Given the description of an element on the screen output the (x, y) to click on. 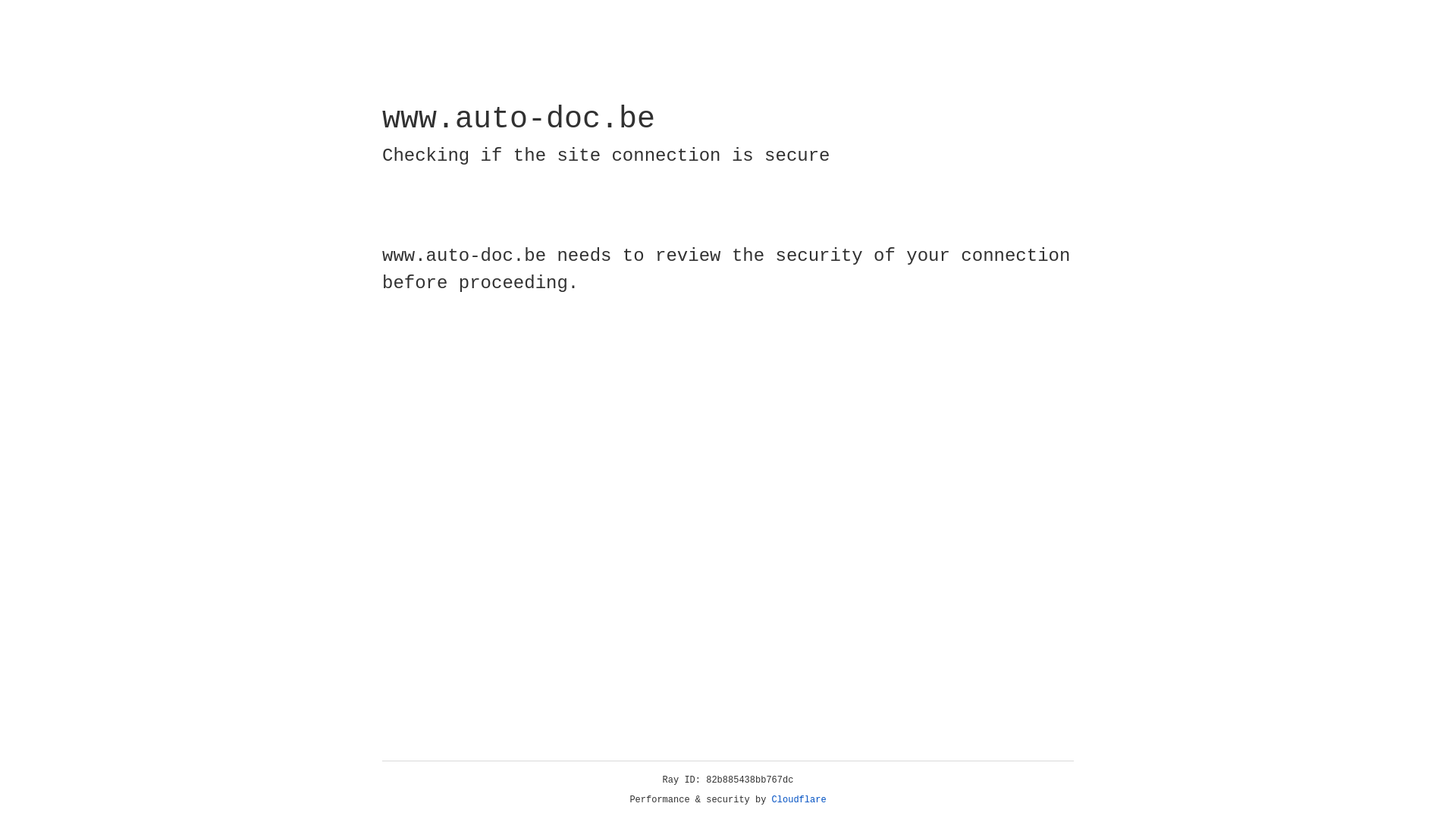
Cloudflare Element type: text (798, 799)
